Given the description of an element on the screen output the (x, y) to click on. 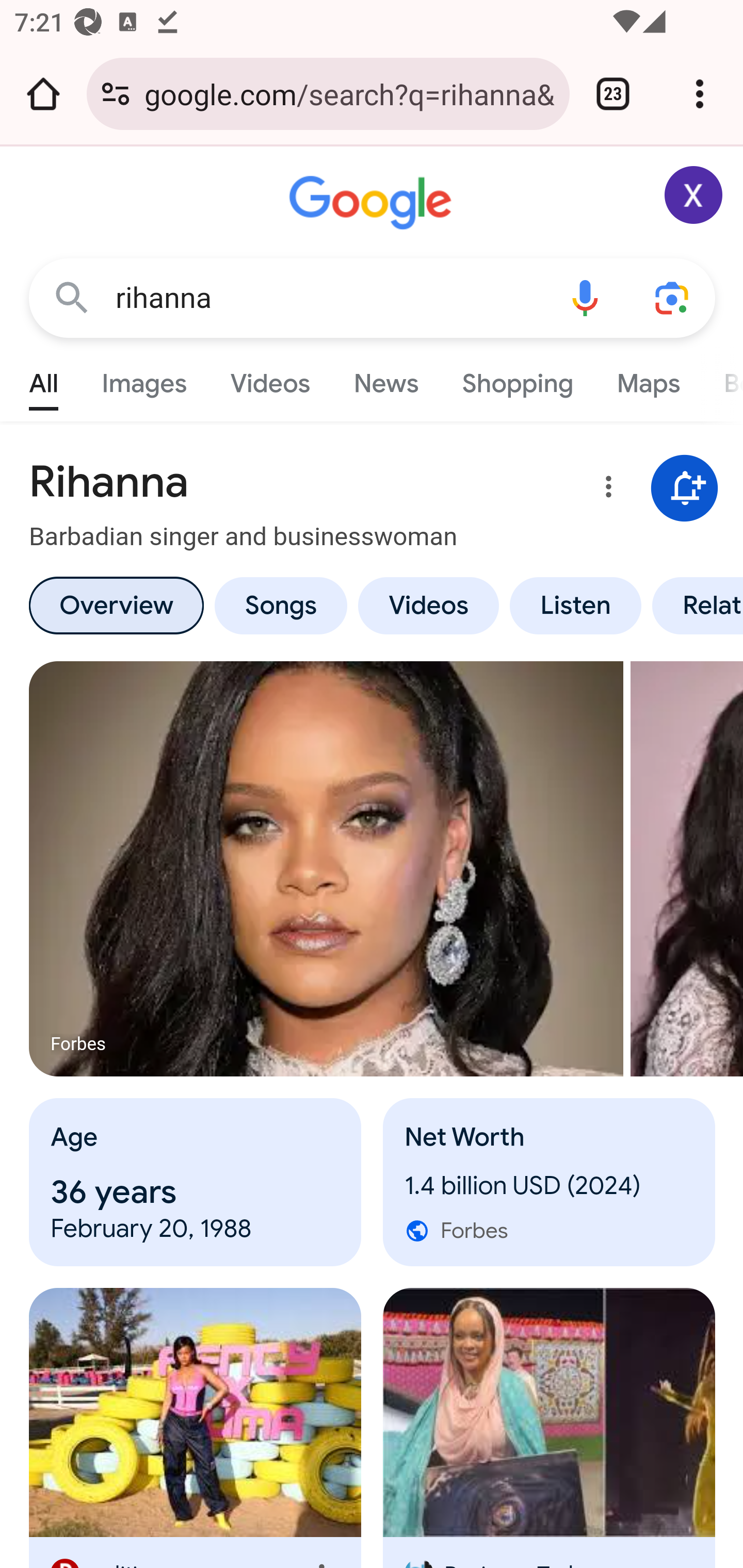
Open the home page (43, 93)
Connection is secure (115, 93)
Switch or close tabs (612, 93)
Customize and control Google Chrome (699, 93)
Google (372, 203)
Google Account: Xiaoran (zxrappiumtest@gmail.com) (694, 195)
Google Search (71, 296)
Search using your camera or photos (672, 296)
rihanna (328, 297)
Images (144, 378)
Videos (270, 378)
News (385, 378)
Shopping (516, 378)
Maps (647, 378)
Get notifications about Rihanna (684, 489)
More options (605, 489)
Overview (116, 605)
Songs (280, 605)
Videos (428, 605)
Listen (575, 605)
Relationships (694, 605)
